Given the description of an element on the screen output the (x, y) to click on. 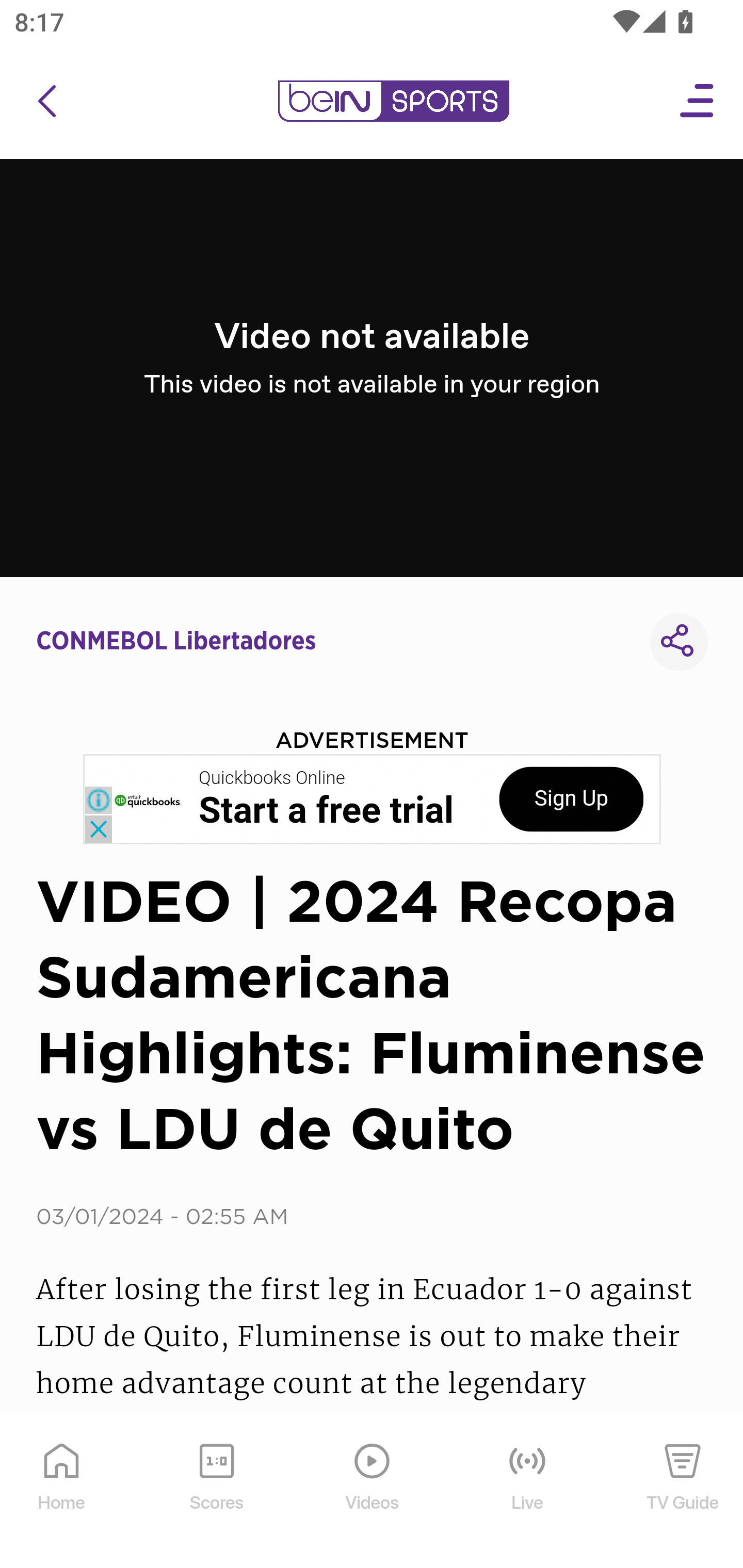
en-us?platform=mobile_android bein logo (392, 101)
icon back (46, 101)
Open Menu Icon (697, 101)
Quickbooks Online (272, 778)
Sign Up (571, 799)
Start a free trial (326, 810)
Home Home Icon Home (61, 1491)
Scores Scores Icon Scores (216, 1491)
Videos Videos Icon Videos (372, 1491)
TV Guide TV Guide Icon TV Guide (682, 1491)
